Given the description of an element on the screen output the (x, y) to click on. 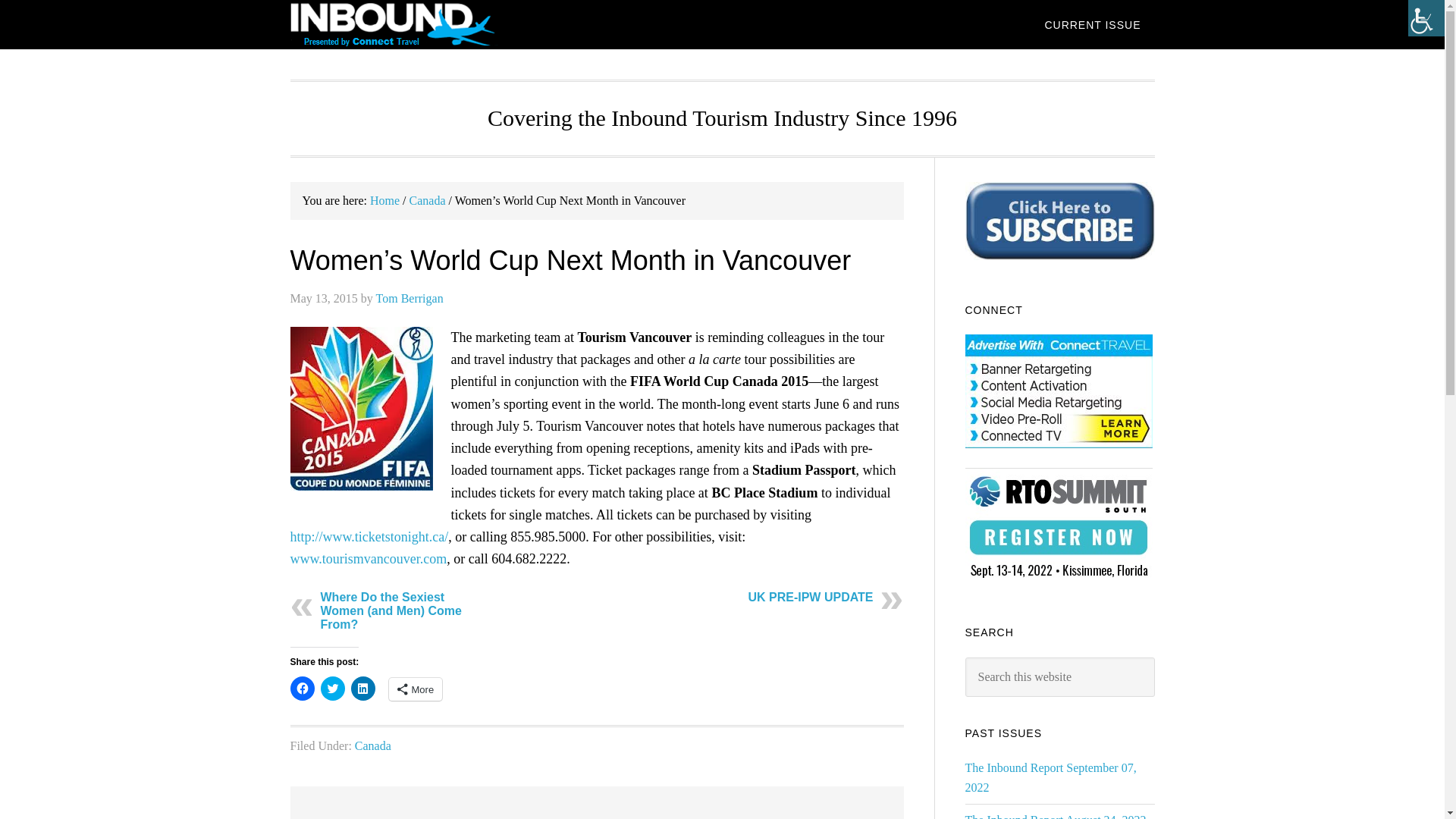
CURRENT ISSUE (1092, 24)
Tom Berrigan (409, 297)
More (415, 689)
The Inbound Report September 07, 2022 (1049, 777)
Home (383, 200)
The Inbound Report August 24, 2022 (1054, 816)
THE INBOUND REPORT (410, 24)
Canada (373, 745)
